Given the description of an element on the screen output the (x, y) to click on. 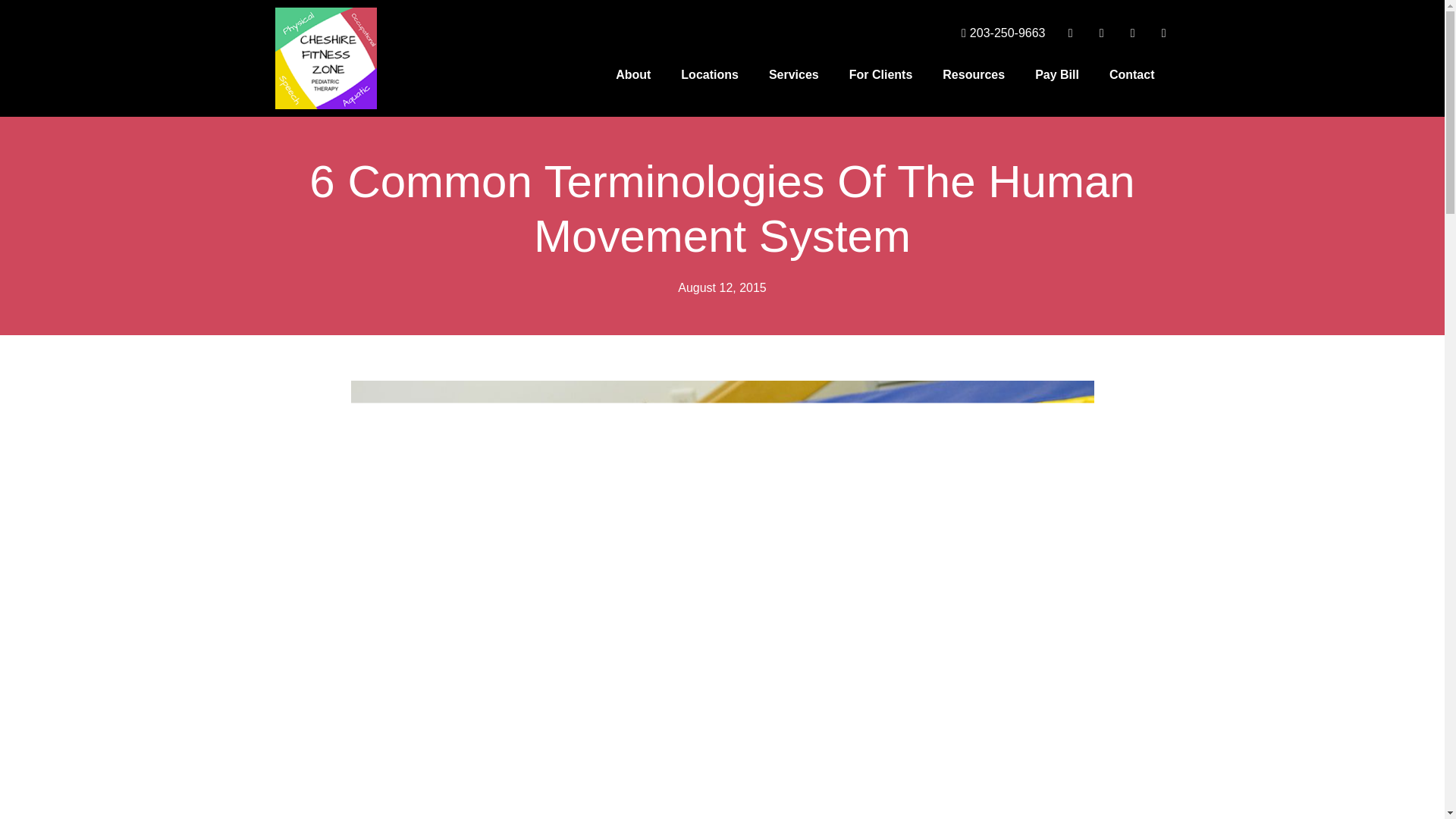
For Clients (881, 74)
About (632, 74)
Locations (709, 74)
Resources (973, 74)
Pay Bill (1057, 74)
Services (794, 74)
203-250-9663 (997, 33)
Contact (1132, 74)
